Given the description of an element on the screen output the (x, y) to click on. 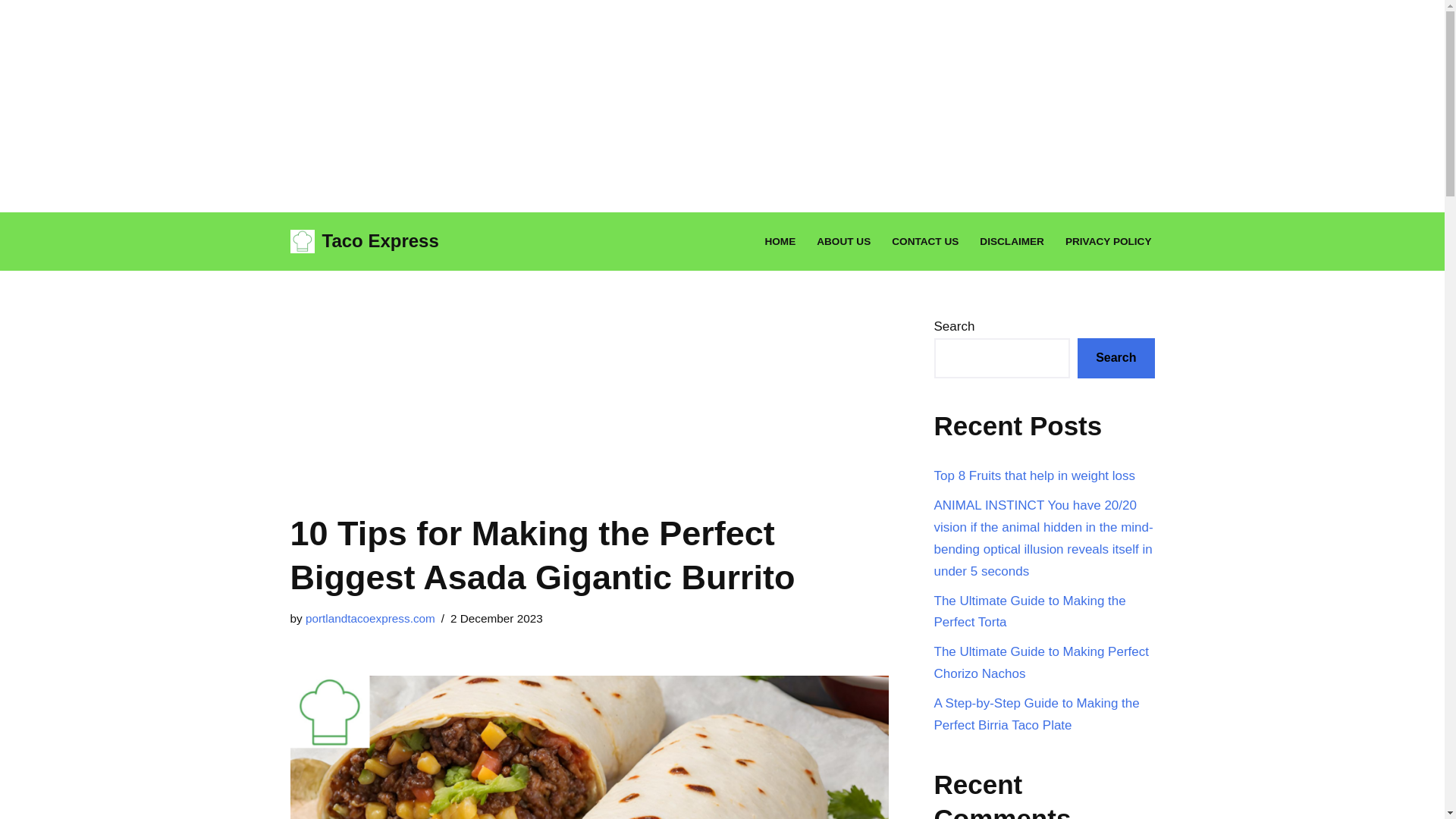
The Ultimate Guide to Making the Perfect Torta (1029, 611)
CONTACT US (924, 240)
HOME (779, 240)
Top 8 Fruits that help in weight loss (1034, 475)
DISCLAIMER (1011, 240)
Skip to content (11, 243)
Taco Express (363, 241)
The Ultimate Guide to Making Perfect Chorizo Nachos (1041, 662)
A Step-by-Step Guide to Making the Perfect Birria Taco Plate (1037, 714)
PRIVACY POLICY (1108, 240)
Search (1115, 358)
Advertisement (588, 382)
ABOUT US (843, 240)
portlandtacoexpress.com (370, 617)
